Given the description of an element on the screen output the (x, y) to click on. 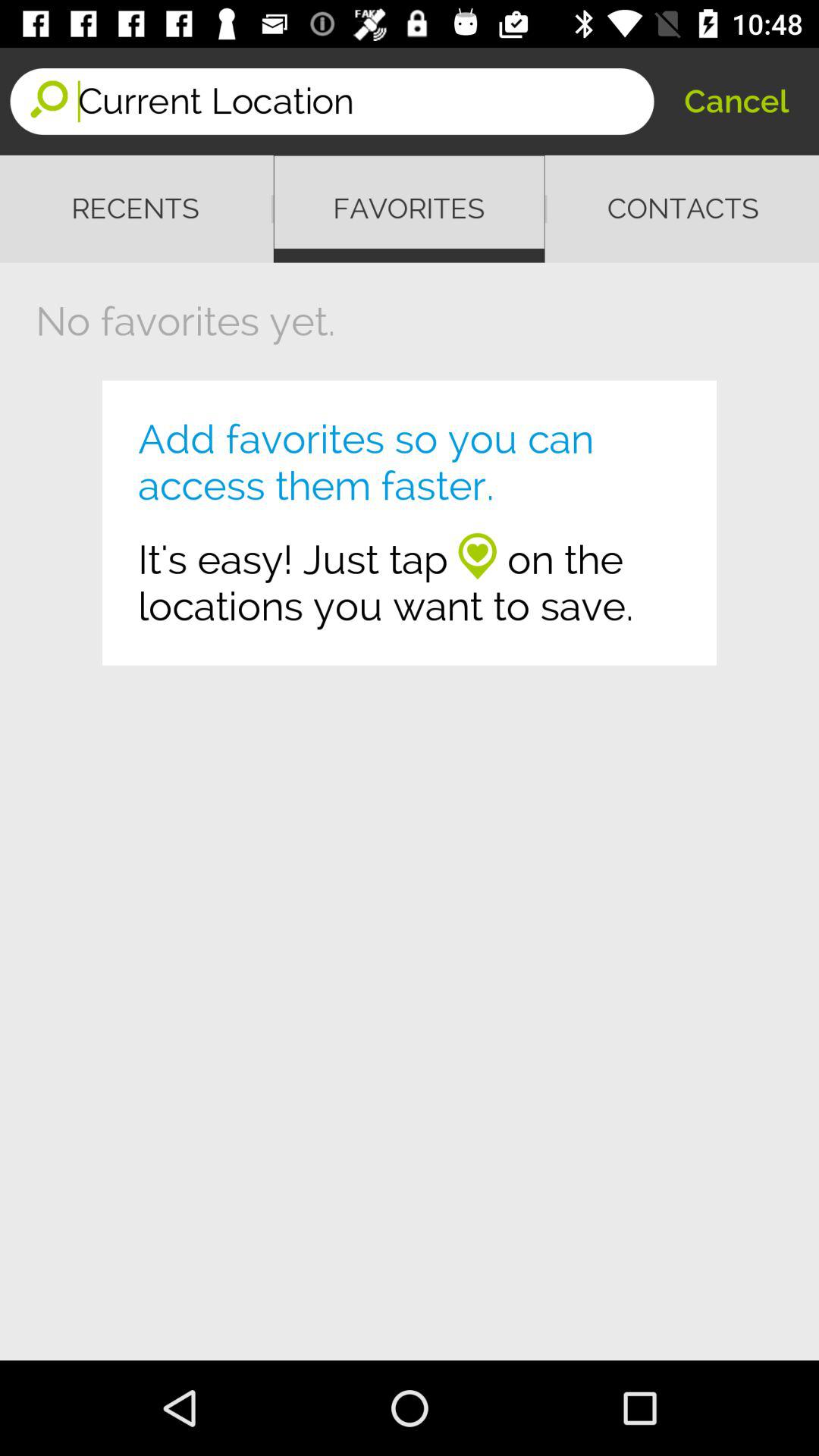
swipe until current location icon (365, 101)
